Given the description of an element on the screen output the (x, y) to click on. 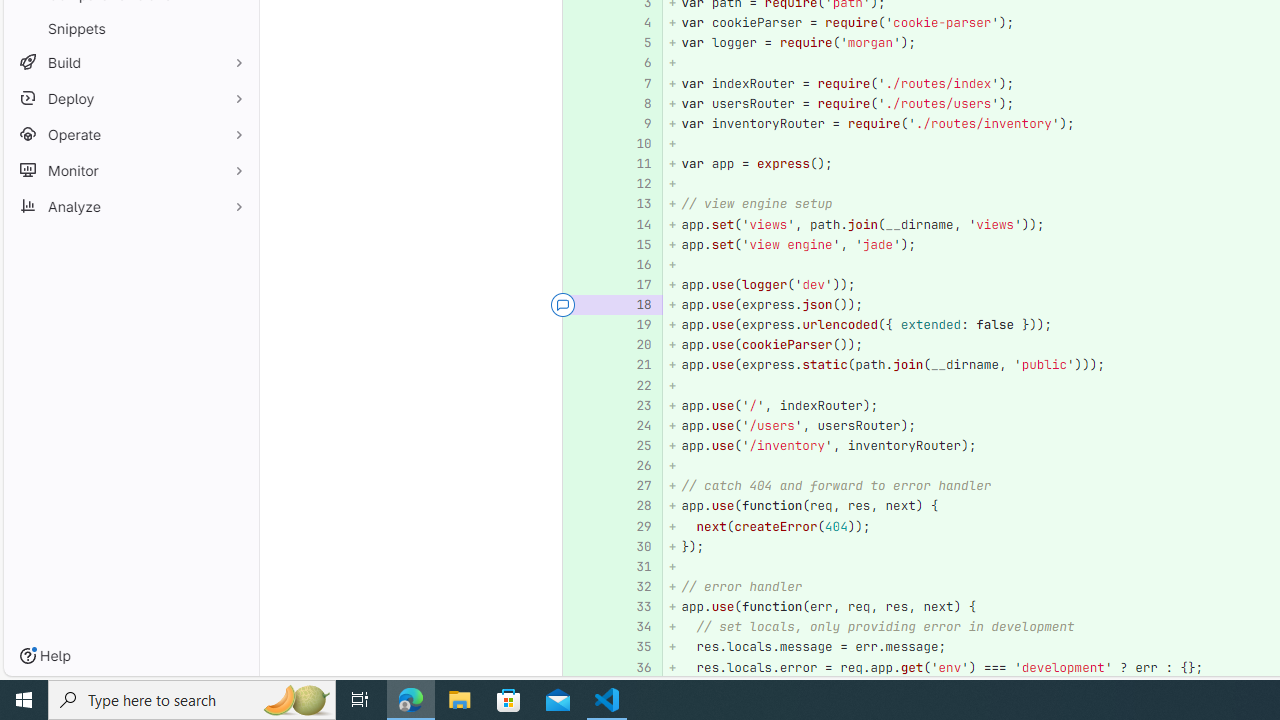
Snippets (130, 28)
31 (637, 566)
32 (633, 587)
15 (637, 244)
36 (637, 667)
23 (637, 405)
5 (633, 43)
30 (637, 546)
27 (633, 485)
29 (633, 526)
Pin Snippets (234, 28)
21 (633, 364)
Analyze (130, 206)
14 (633, 223)
7 (637, 83)
